Given the description of an element on the screen output the (x, y) to click on. 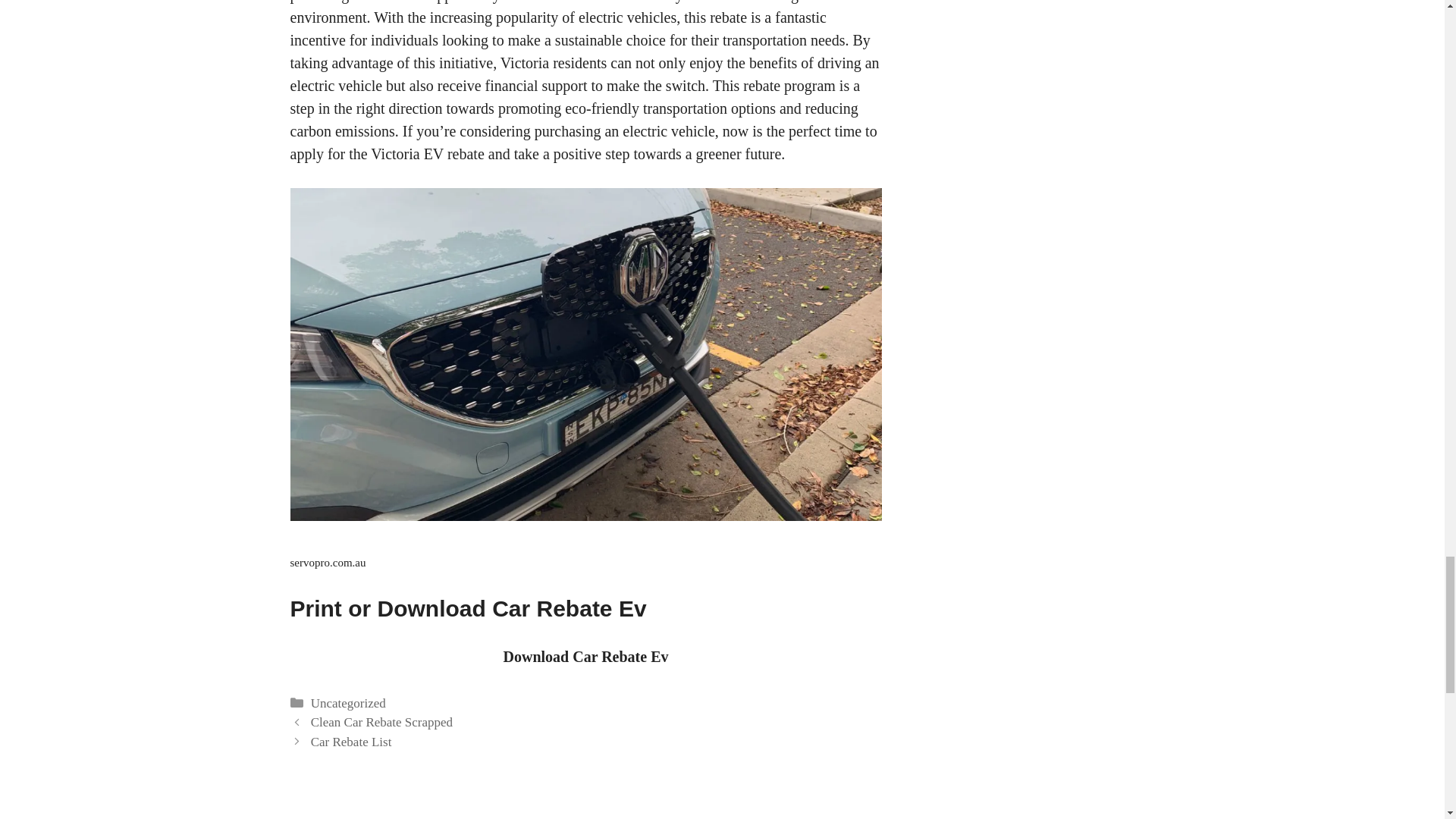
Uncategorized (348, 703)
Clean Car Rebate Scrapped (381, 721)
Previous (381, 721)
Next (351, 741)
Car Rebate List (351, 741)
Download Car Rebate Ev (585, 656)
